Given the description of an element on the screen output the (x, y) to click on. 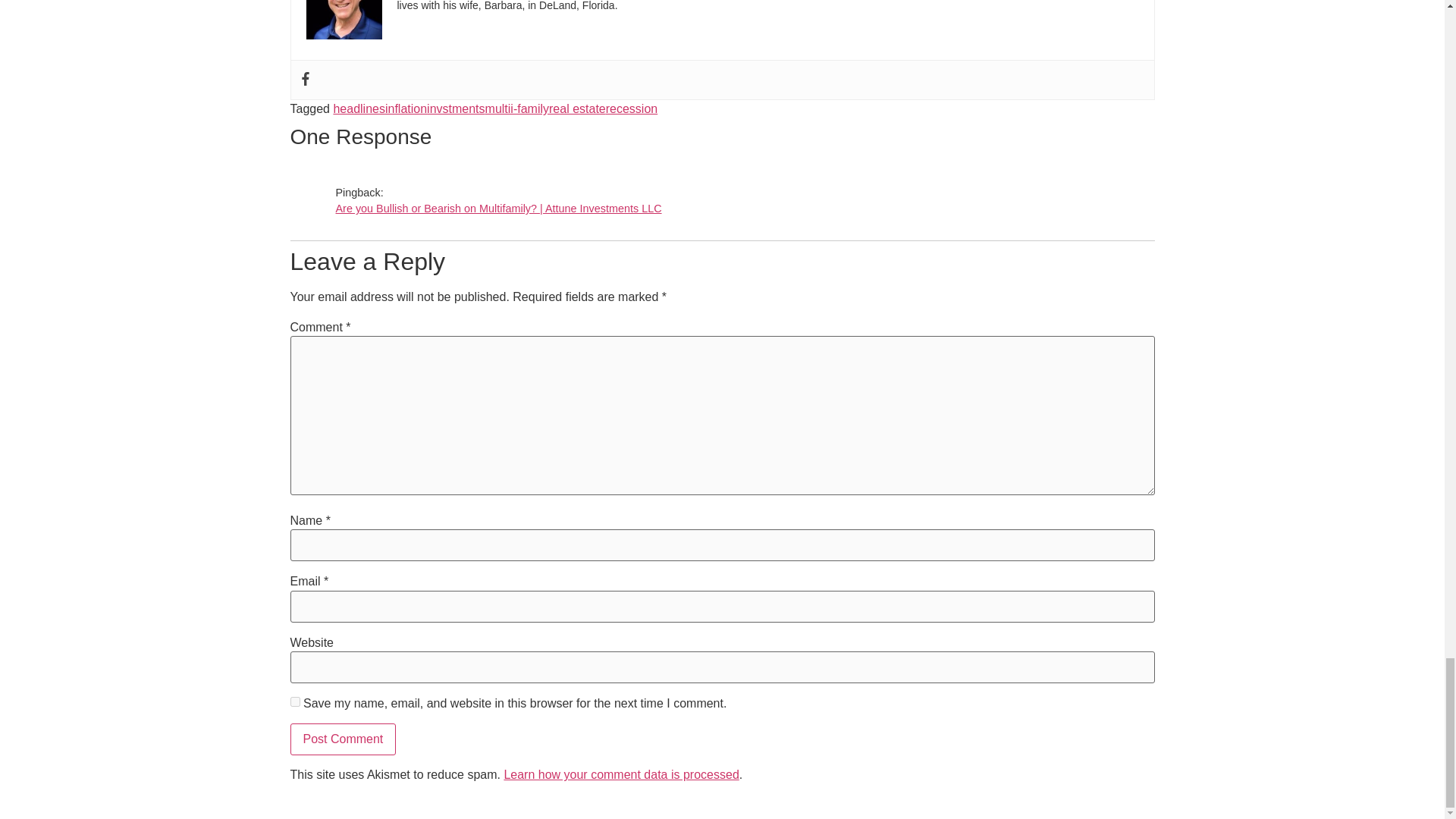
invstments (455, 108)
real estate (576, 108)
yes (294, 701)
Post Comment (342, 739)
Post Comment (342, 739)
Learn how your comment data is processed (620, 774)
inflation (405, 108)
headlines (359, 108)
recession (631, 108)
multii-family (516, 108)
